Given the description of an element on the screen output the (x, y) to click on. 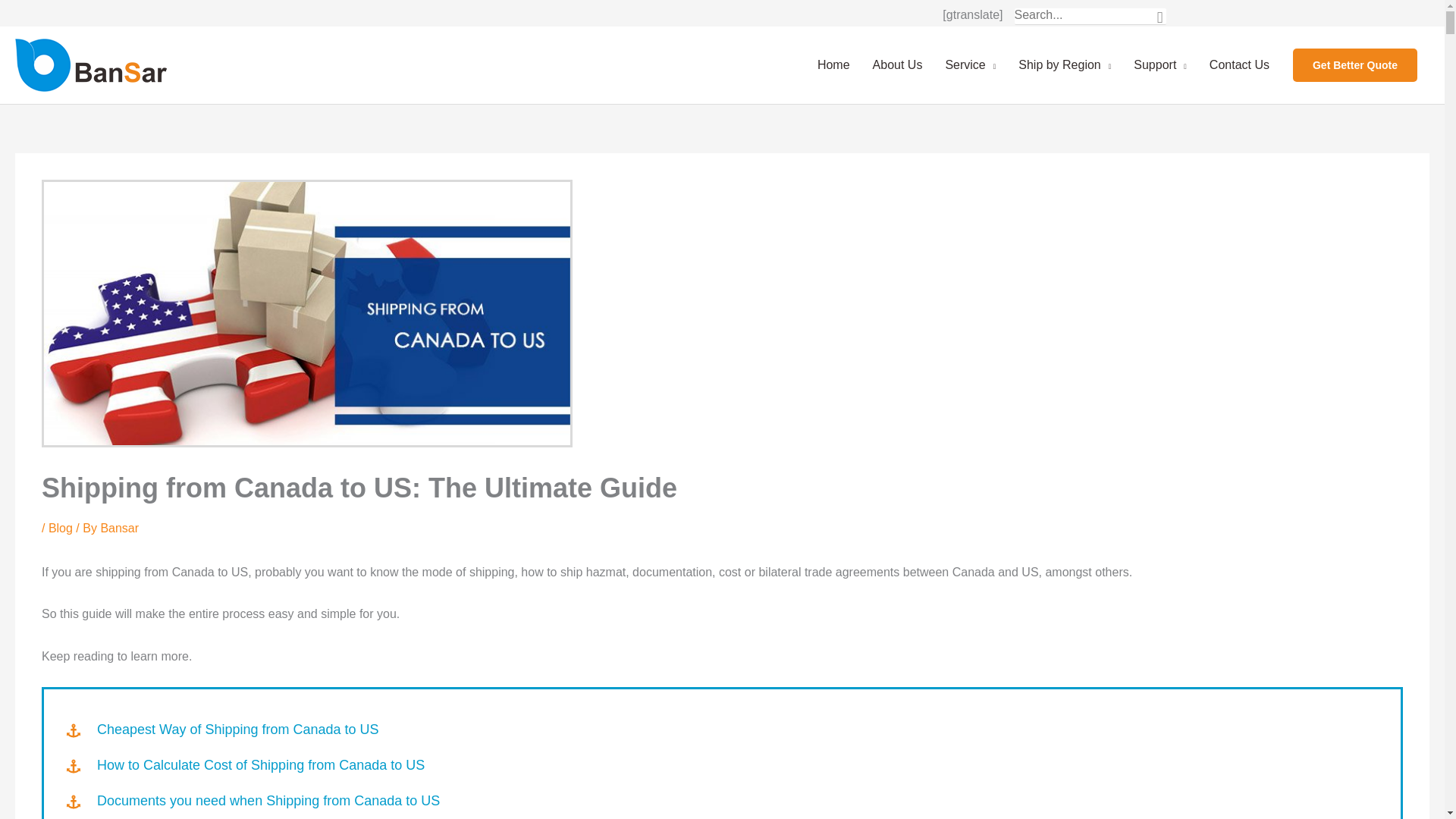
About Us (897, 65)
View all posts by Bansar (119, 527)
Service (970, 65)
Ship by Region (1064, 65)
